Given the description of an element on the screen output the (x, y) to click on. 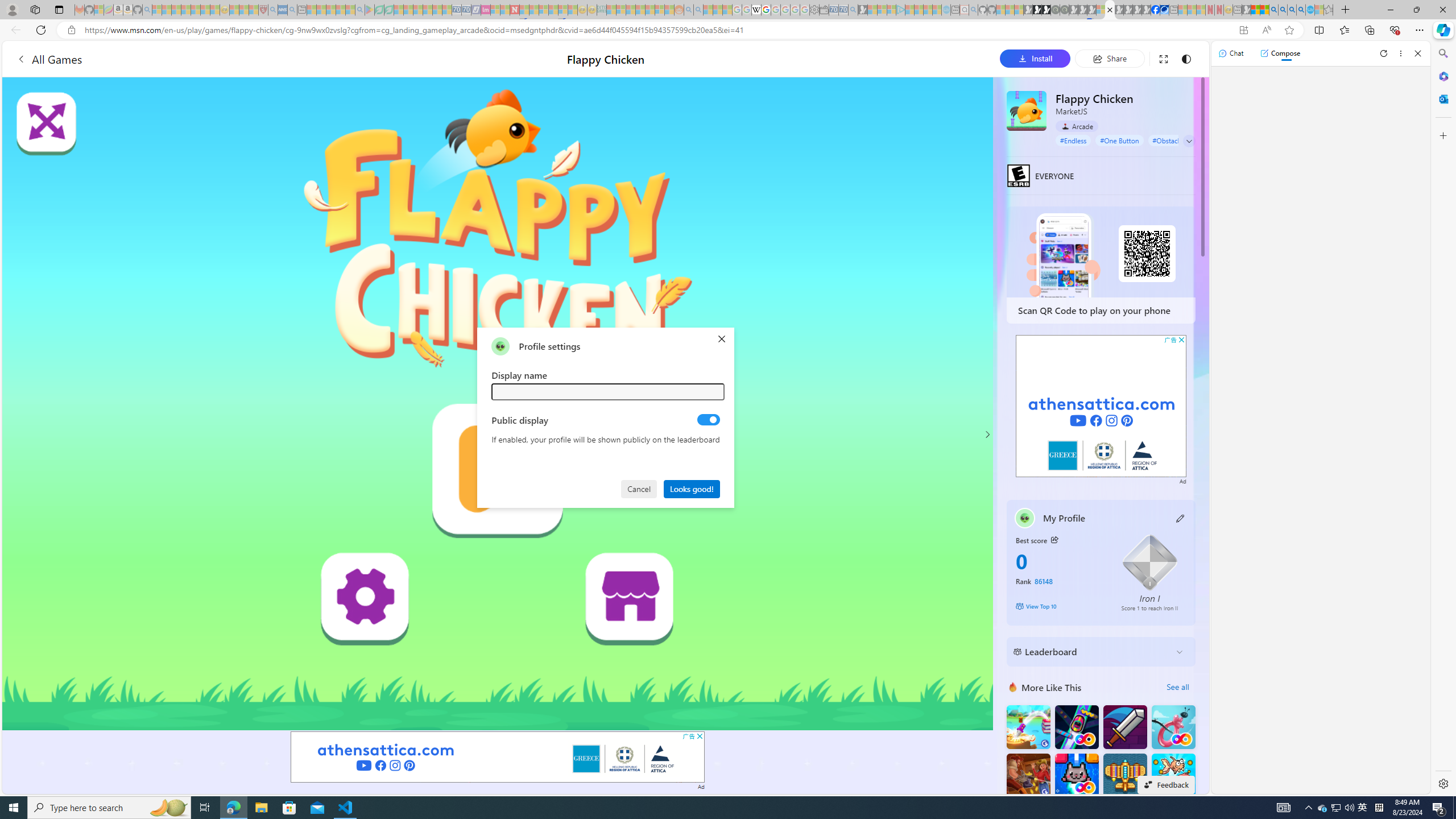
Class: button (1053, 539)
Balloon FRVR (1173, 726)
Share (1109, 58)
